Given the description of an element on the screen output the (x, y) to click on. 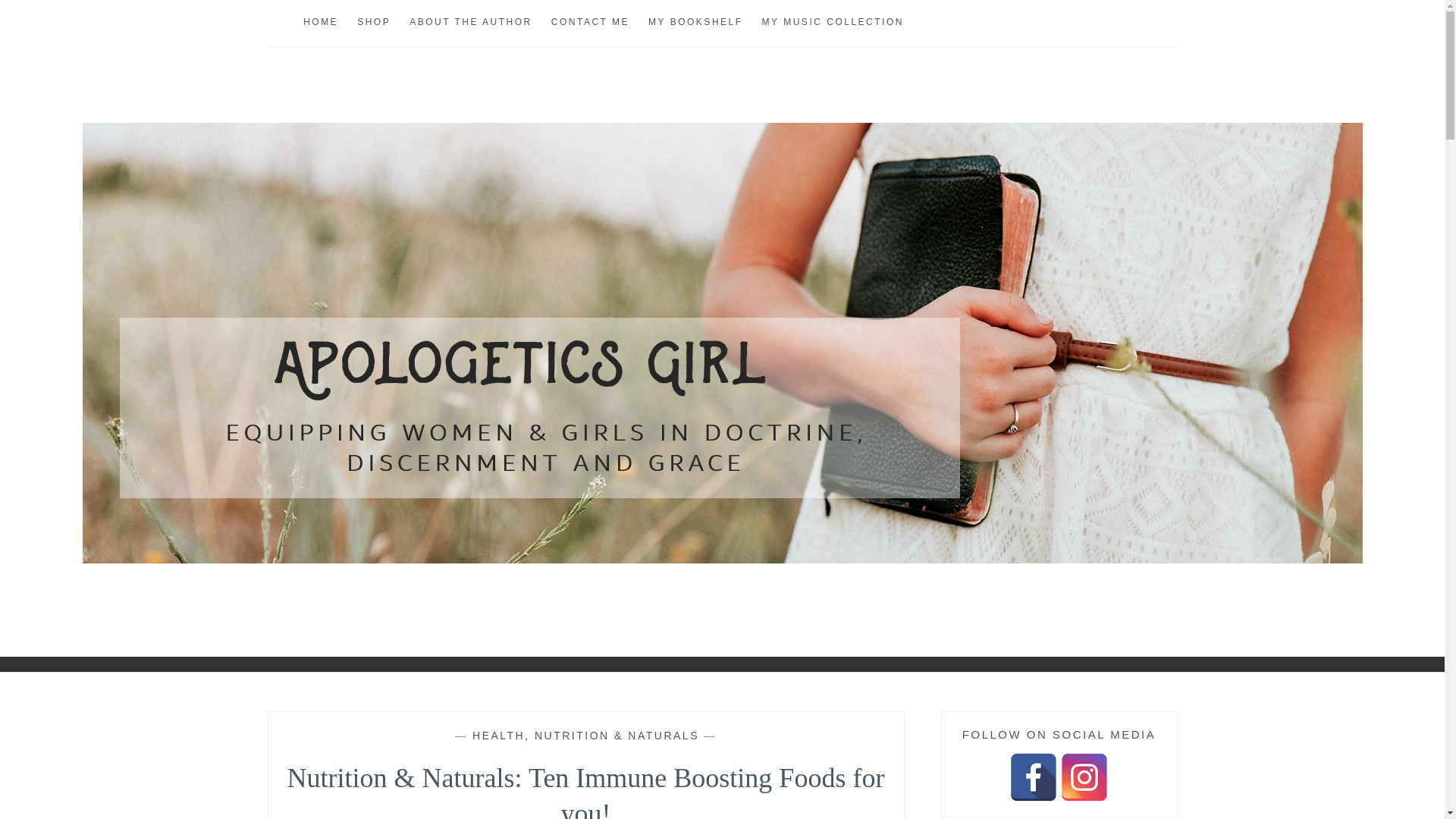
Facebook (1033, 776)
Instagram (1083, 776)
CONTACT ME (589, 22)
ABOUT THE AUTHOR (470, 22)
MY BOOKSHELF (694, 22)
HOME (319, 22)
MY MUSIC COLLECTION (832, 22)
SHOP (373, 22)
